Given the description of an element on the screen output the (x, y) to click on. 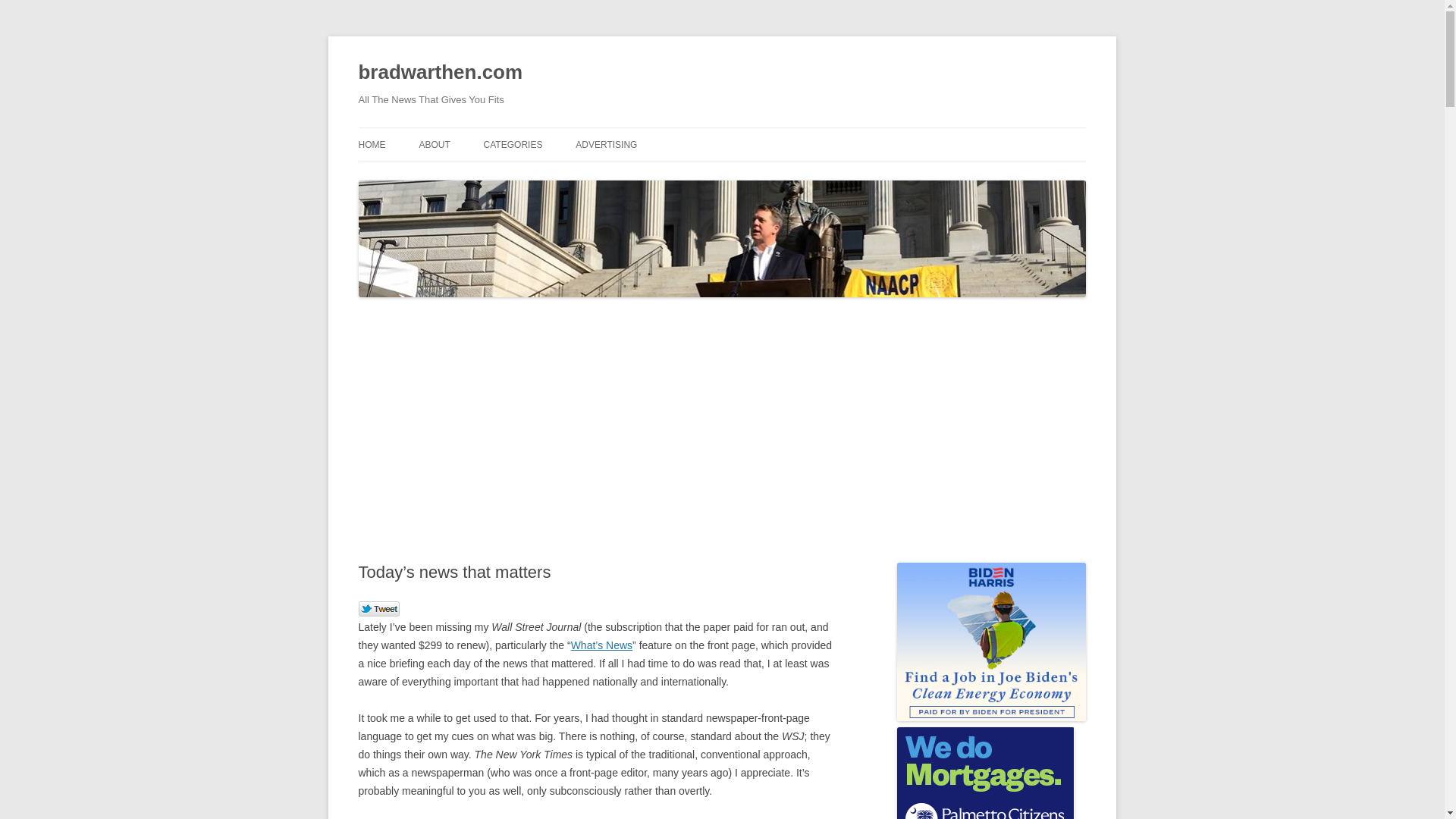
CATEGORIES (513, 144)
Tweet (378, 609)
bradwarthen.com (440, 72)
ABOUT (434, 144)
bradwarthen.com (440, 72)
SOUTH CAROLINA (558, 176)
ADVERTISING (606, 144)
